Given the description of an element on the screen output the (x, y) to click on. 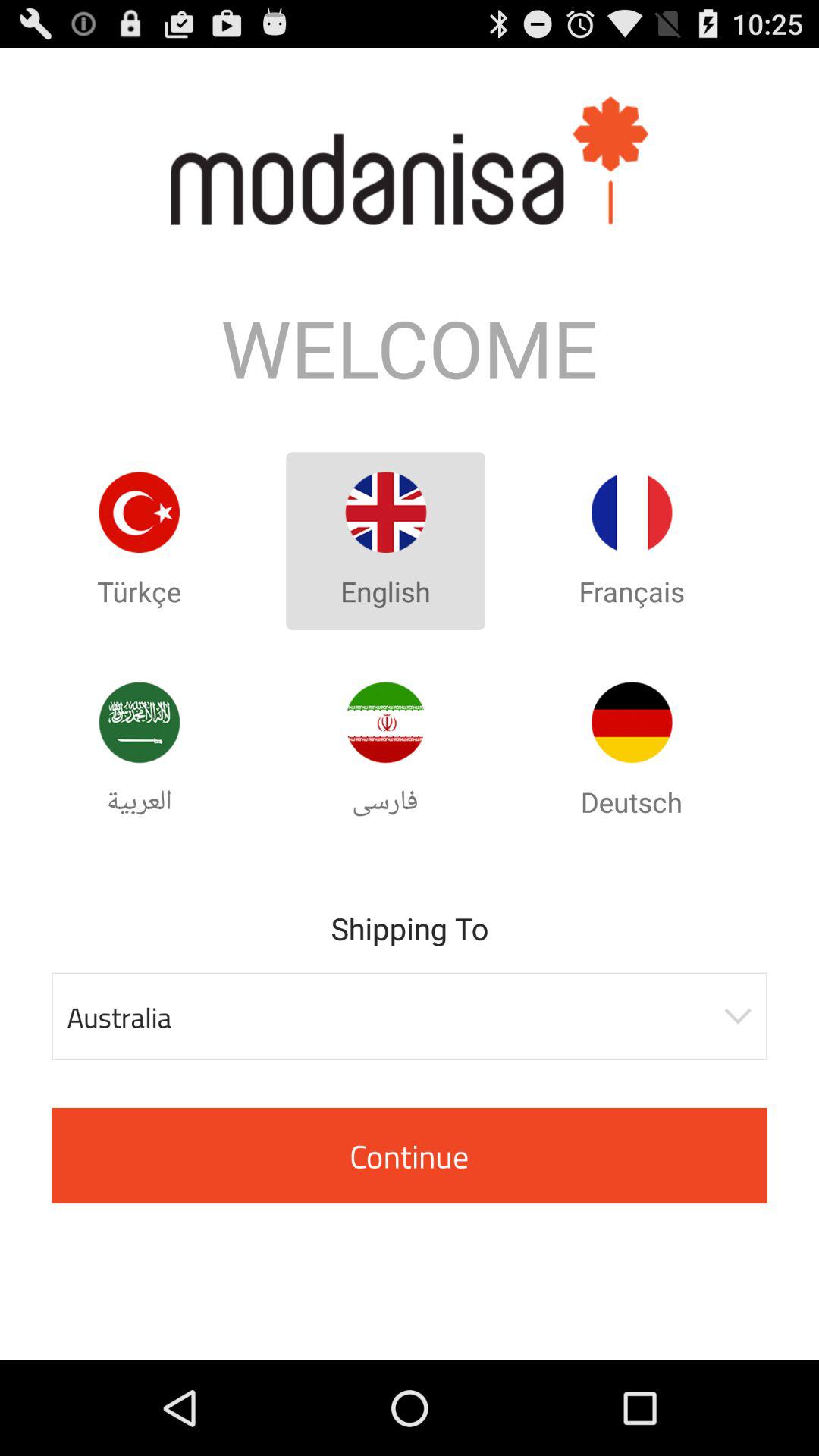
identify your native language as british english (385, 512)
